Given the description of an element on the screen output the (x, y) to click on. 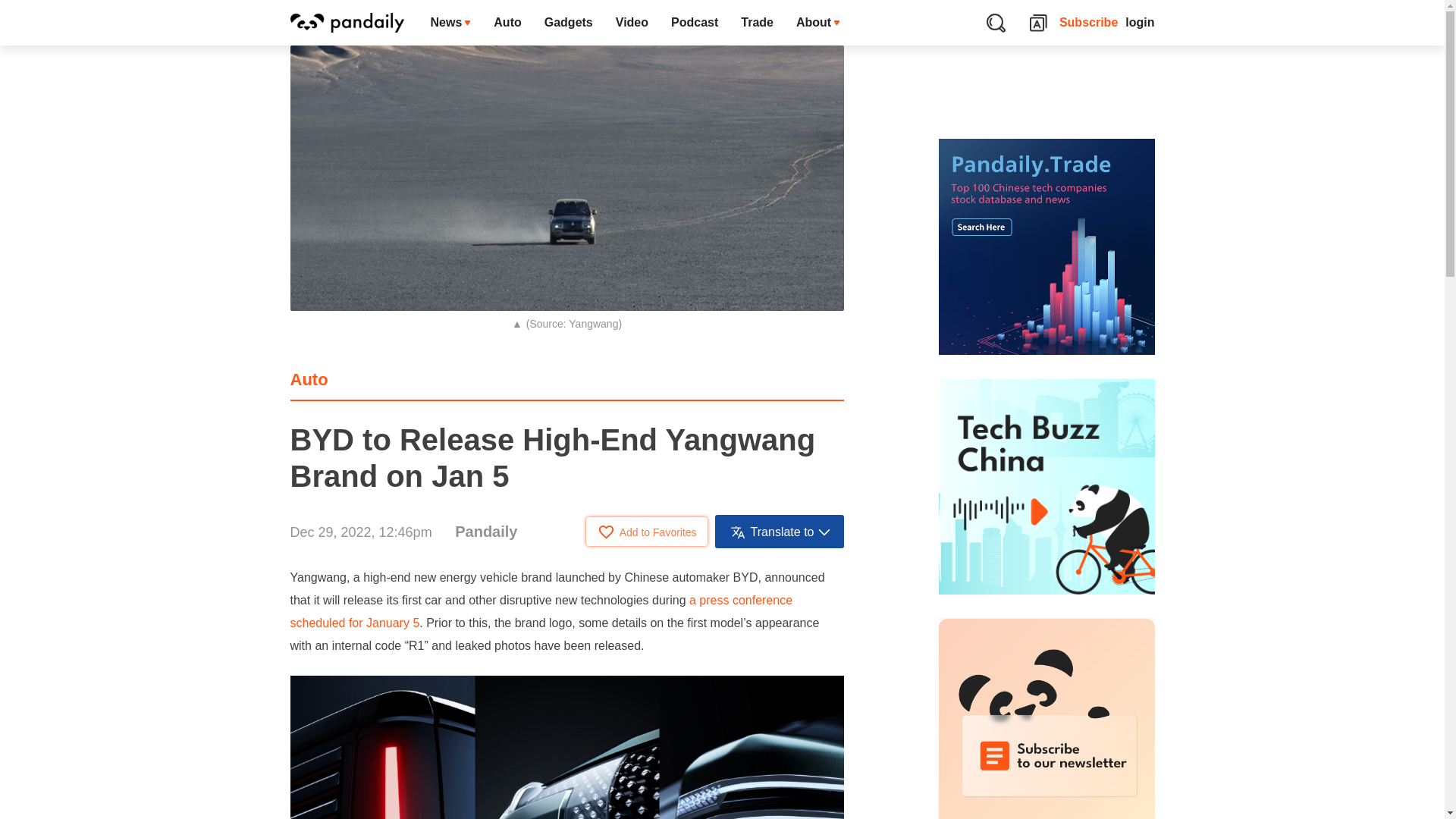
Auto (506, 22)
News (450, 22)
Trade (756, 22)
Auto (308, 379)
Subscribe (1088, 22)
Dec 29, 2022, 12:46pm (359, 531)
Translate to (779, 531)
Gadgets (568, 22)
Pandaily (485, 531)
Add to Favorites (646, 531)
About (817, 22)
login (1139, 22)
Podcast (694, 22)
Video (631, 22)
a press conference scheduled for January 5 (540, 611)
